Given the description of an element on the screen output the (x, y) to click on. 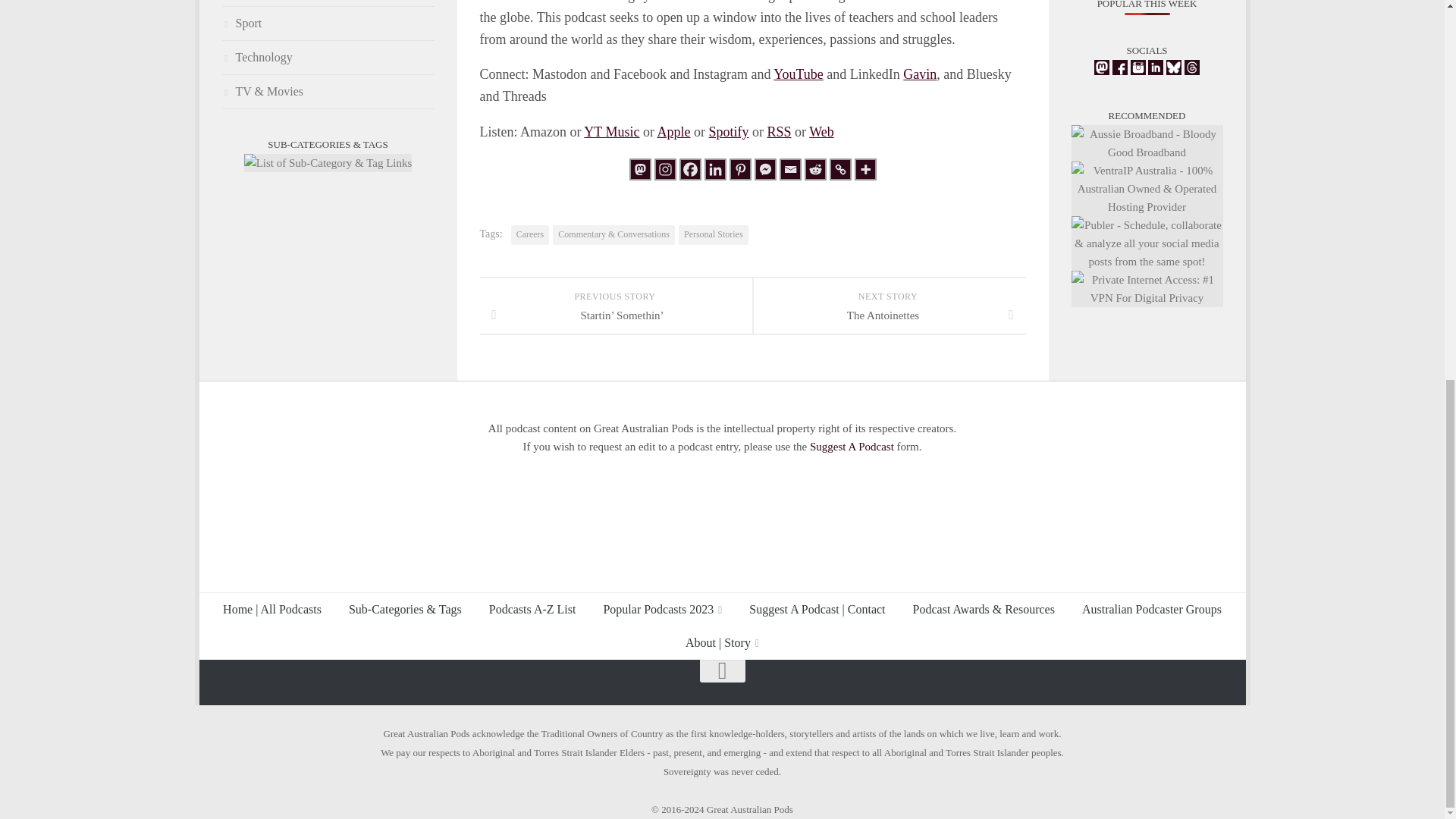
Mastodon (639, 169)
Linkedin (714, 169)
Copy Link (840, 169)
Pinterest (740, 169)
Reddit (814, 169)
Email (790, 169)
Instagram (664, 169)
Gavin (919, 73)
YT Music (611, 131)
YouTube (798, 73)
Facebook (690, 169)
More (864, 169)
